Given the description of an element on the screen output the (x, y) to click on. 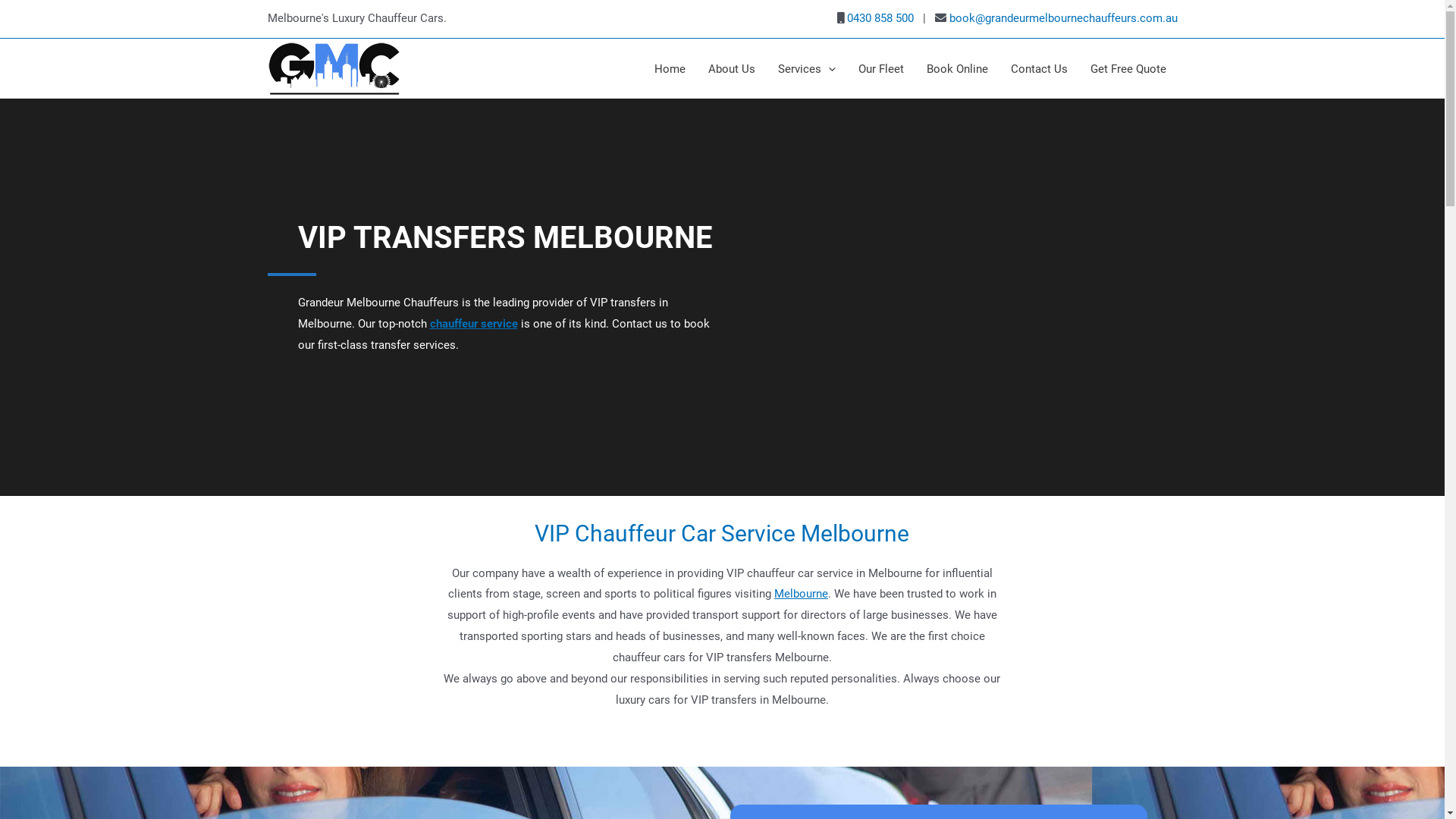
Home Element type: text (669, 68)
0430 858 500 Element type: text (879, 18)
Contact Us Element type: text (1039, 68)
Melbourne Element type: text (801, 593)
About Us Element type: text (730, 68)
Get Free Quote Element type: text (1127, 68)
chauffeur service Element type: text (473, 323)
Our Fleet Element type: text (880, 68)
book@grandeurmelbournechauffeurs.com.au Element type: text (1063, 18)
Services Element type: text (805, 68)
Book Online Element type: text (956, 68)
